Given the description of an element on the screen output the (x, y) to click on. 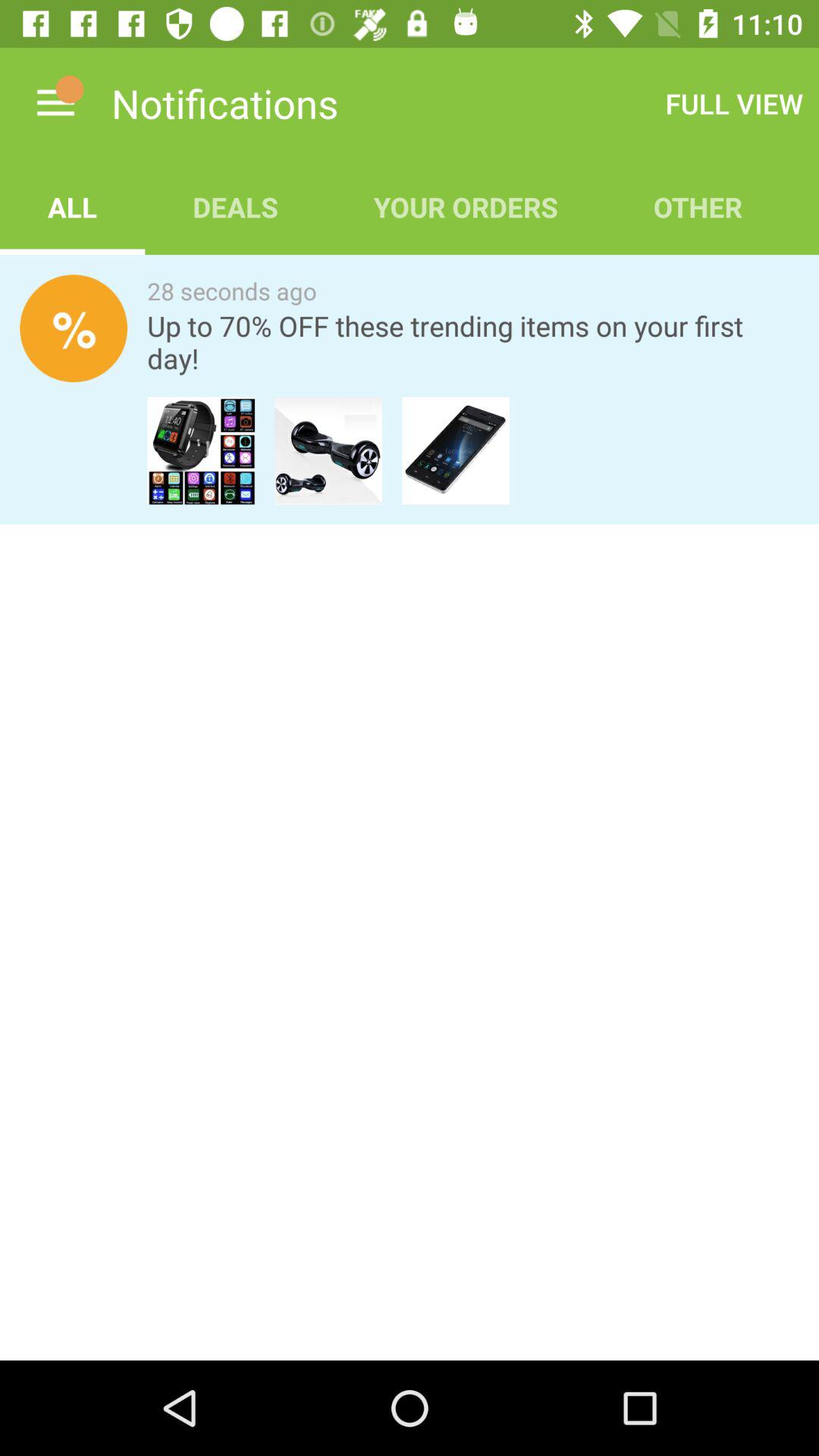
turn off the item next to other icon (465, 206)
